Given the description of an element on the screen output the (x, y) to click on. 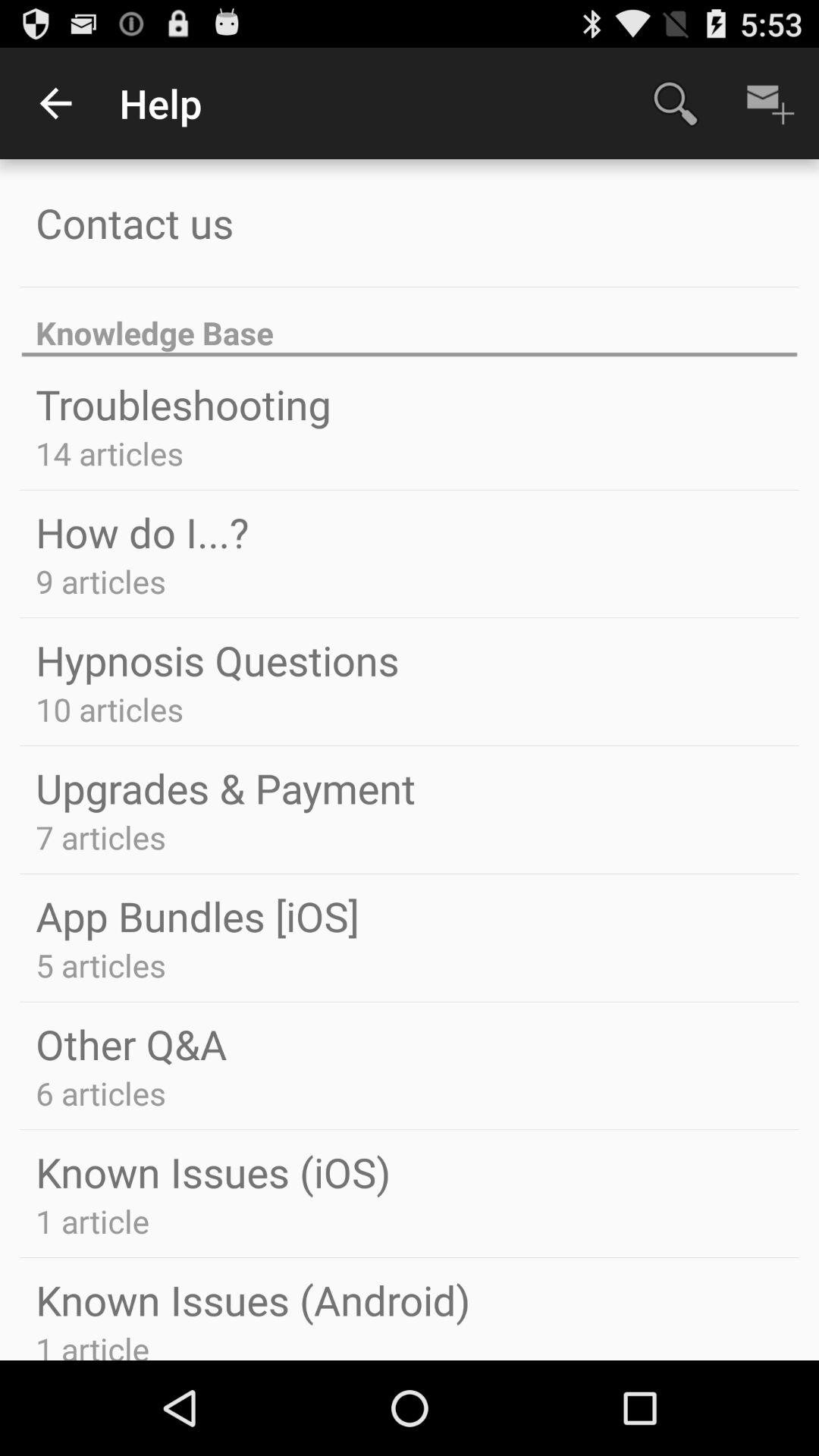
click troubleshooting (183, 403)
